Given the description of an element on the screen output the (x, y) to click on. 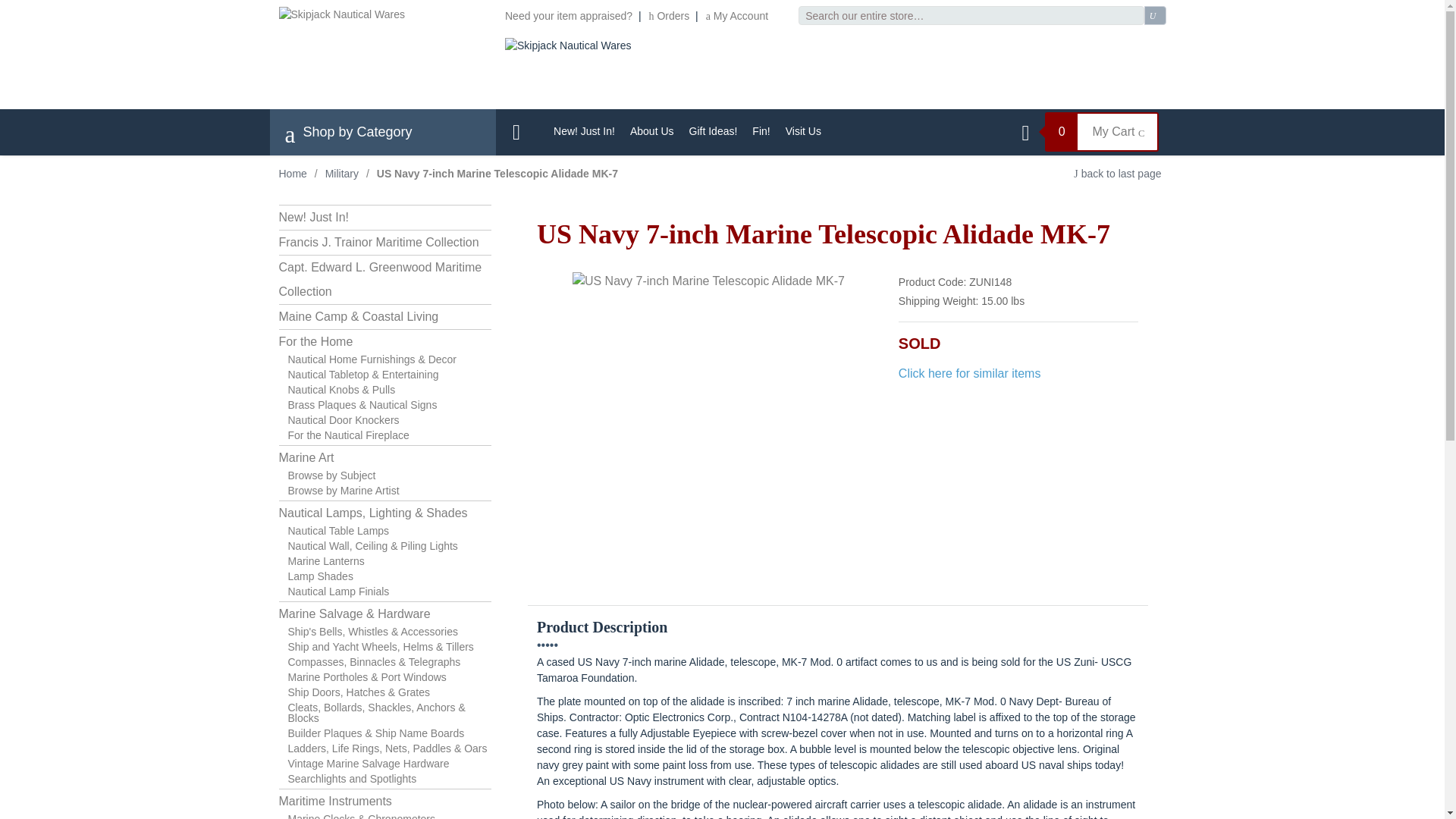
Search (1155, 15)
Skipjack Nautical Wares (567, 45)
Skipjack Nautical Wares (341, 14)
Military (341, 173)
Home (293, 173)
